Given the description of an element on the screen output the (x, y) to click on. 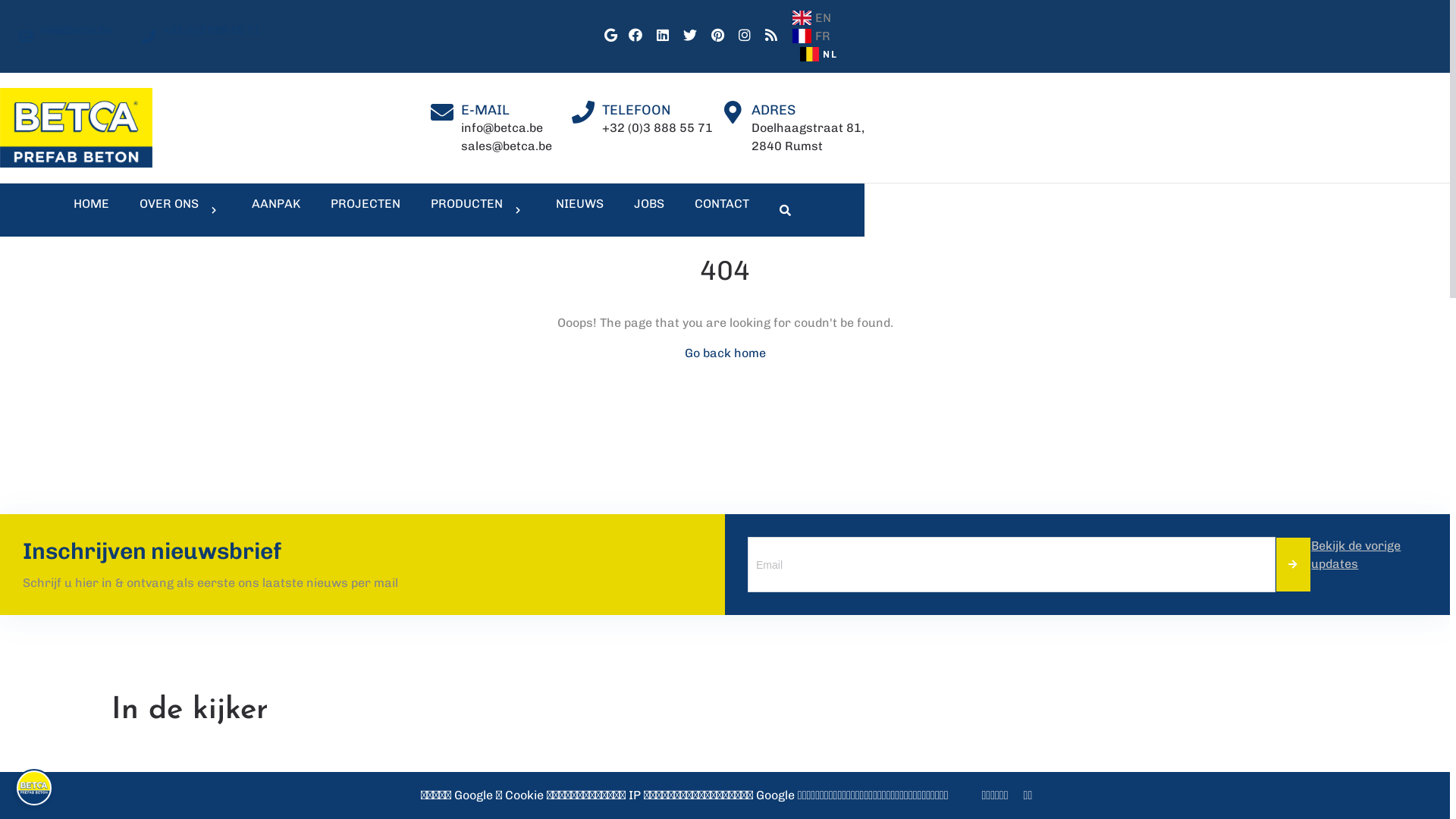
NIEUWS Element type: text (579, 209)
info@betca.be Element type: text (64, 36)
OVER ONS Element type: text (180, 209)
+32 (0)3 888 55 71 Element type: text (657, 127)
JOBS Element type: text (648, 209)
Go back home Element type: text (724, 352)
PROJECTEN Element type: text (365, 209)
CONTACT Element type: text (721, 209)
AANPAK Element type: text (275, 209)
FR Element type: text (818, 36)
HOME Element type: text (91, 209)
Bekijk de vorige updates Element type: text (1369, 564)
EN Element type: text (818, 18)
+32 (0)3 888 55 71 Element type: text (200, 36)
info@betca.be
sales@betca.be Element type: text (506, 136)
Doelhaagstraat 81,
2840 Rumst Element type: text (807, 136)
PRODUCTEN Element type: text (477, 209)
NL Element type: text (818, 54)
